Given the description of an element on the screen output the (x, y) to click on. 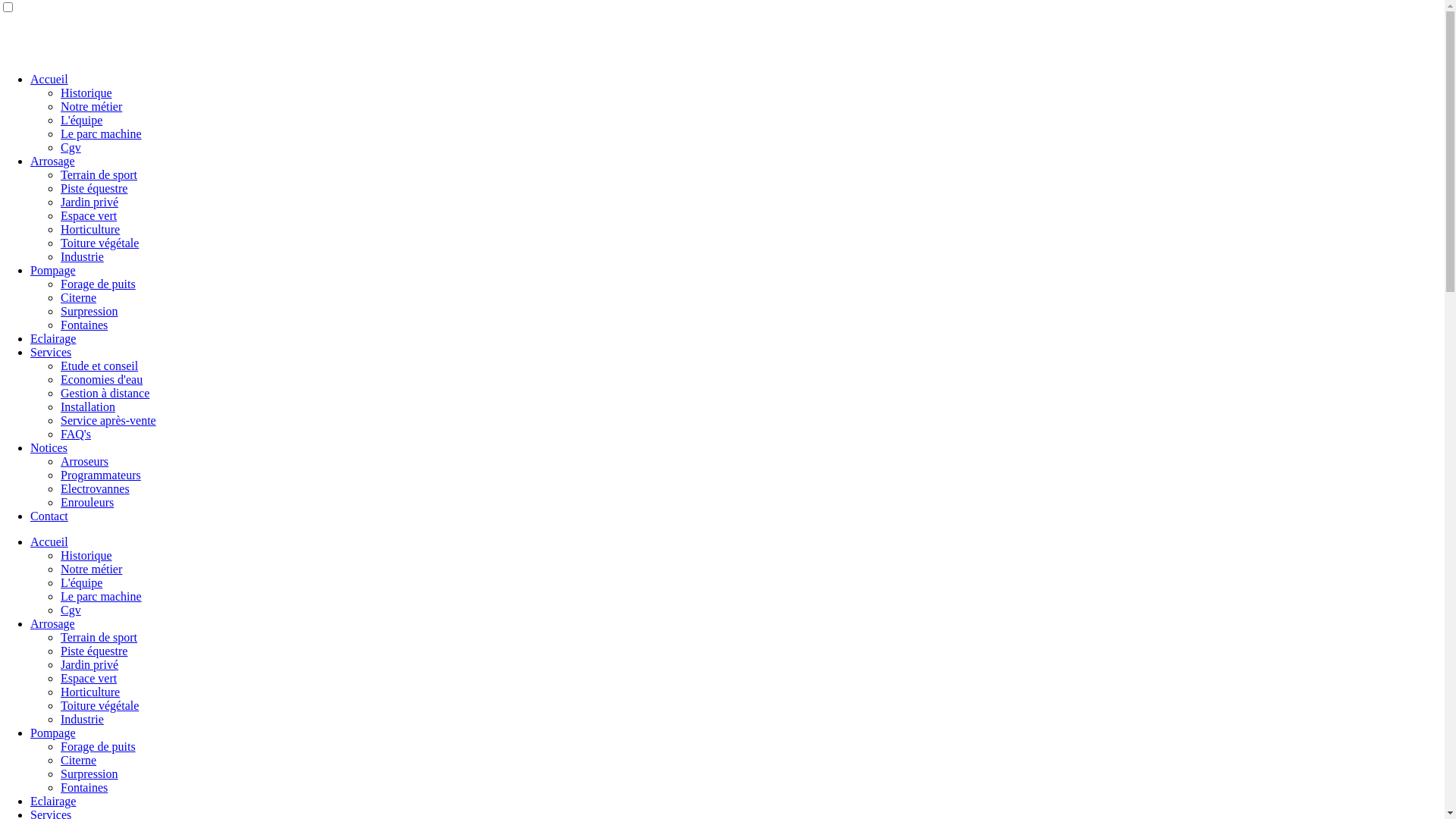
Programmateurs Element type: text (100, 474)
Electrovannes Element type: text (94, 488)
Enrouleurs Element type: text (86, 501)
Historique Element type: text (86, 92)
Fontaines Element type: text (83, 324)
Horticulture Element type: text (89, 691)
Forage de puits Element type: text (97, 746)
Economies d'eau Element type: text (101, 379)
Pompage Element type: text (52, 269)
Eclairage Element type: text (52, 338)
Installation Element type: text (87, 406)
Citerne Element type: text (78, 759)
Surpression Element type: text (89, 310)
Le parc machine Element type: text (100, 133)
Industrie Element type: text (81, 718)
Cgv Element type: text (70, 609)
Historique Element type: text (86, 555)
Surpression Element type: text (89, 773)
Accueil Element type: text (49, 78)
Services Element type: text (50, 351)
Eclairage Element type: text (52, 800)
Espace vert Element type: text (88, 215)
Contact Element type: text (49, 515)
Espace vert Element type: text (88, 677)
Cgv Element type: text (70, 147)
Industrie Element type: text (81, 256)
Forage de puits Element type: text (97, 283)
Notices Element type: text (48, 447)
Terrain de sport Element type: text (98, 636)
Arrosage Element type: text (52, 160)
Terrain de sport Element type: text (98, 174)
Accueil Element type: text (49, 541)
Horticulture Element type: text (89, 228)
Etude et conseil Element type: text (99, 365)
Le parc machine Element type: text (100, 595)
Citerne Element type: text (78, 297)
Fontaines Element type: text (83, 787)
Pompage Element type: text (52, 732)
Arroseurs Element type: text (84, 461)
FAQ's Element type: text (75, 433)
Arrosage Element type: text (52, 623)
